Given the description of an element on the screen output the (x, y) to click on. 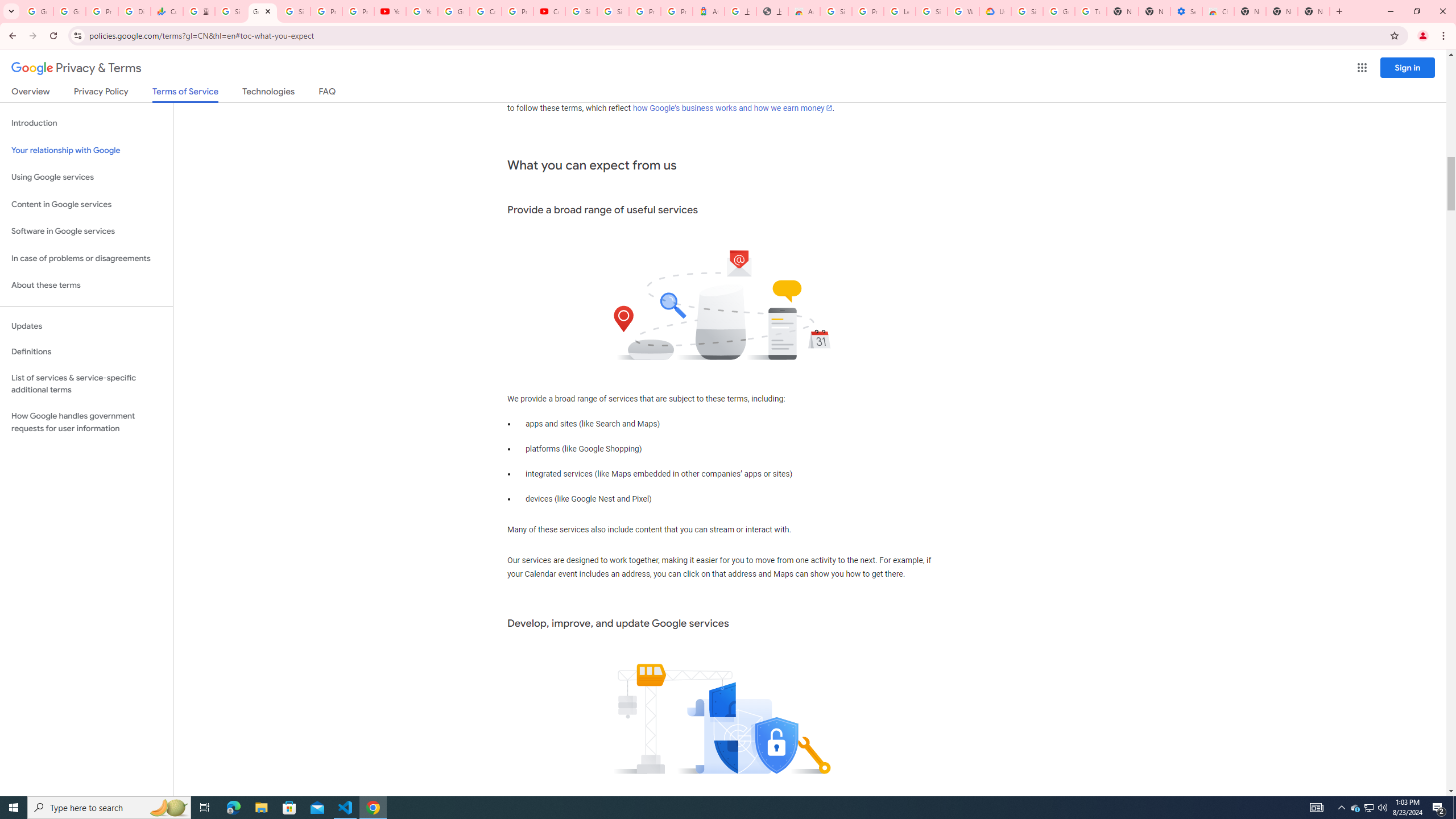
services (874, 94)
Sign in - Google Accounts (613, 11)
Using Google services (86, 176)
Your relationship with Google (86, 150)
Awesome Screen Recorder & Screenshot - Chrome Web Store (804, 11)
In case of problems or disagreements (86, 258)
Currencies - Google Finance (166, 11)
Content Creator Programs & Opportunities - YouTube Creators (549, 11)
